Given the description of an element on the screen output the (x, y) to click on. 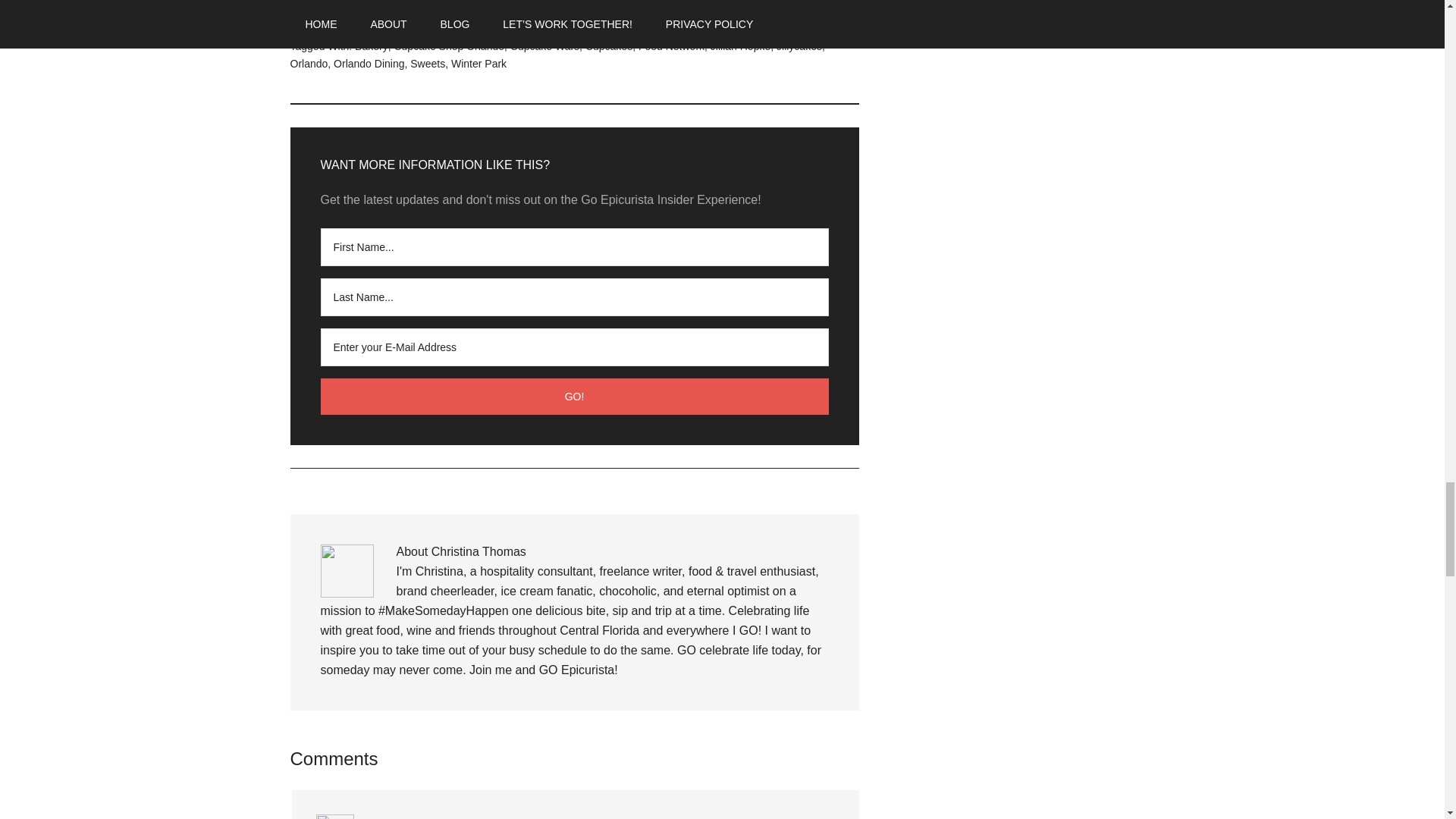
Go! (574, 396)
Save to Pinterest (528, 6)
Share on Facebook (335, 6)
Share on X (433, 6)
